Given the description of an element on the screen output the (x, y) to click on. 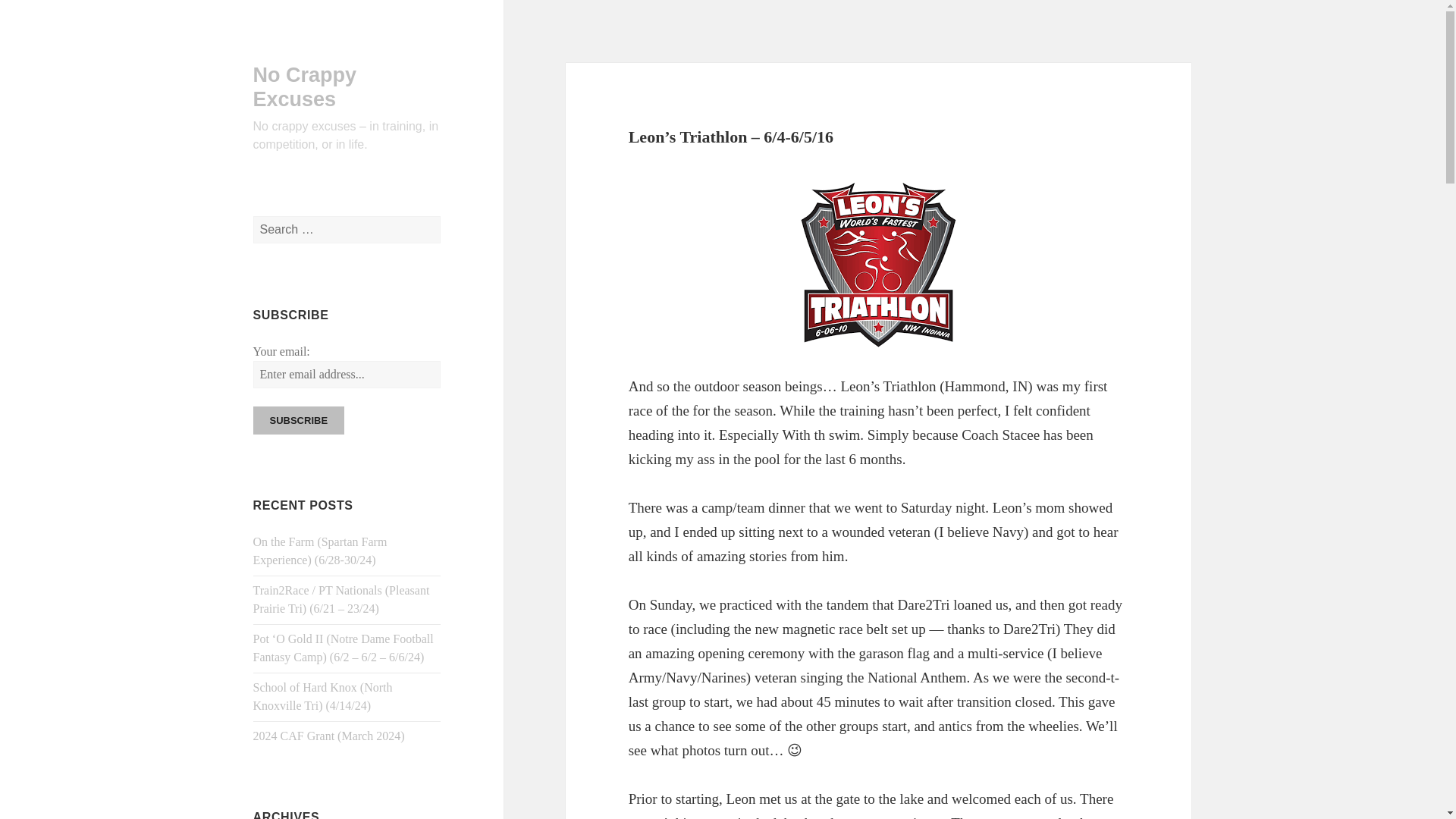
Subscribe (299, 420)
Subscribe (299, 420)
No Crappy Excuses (304, 86)
Enter email address... (347, 374)
